Given the description of an element on the screen output the (x, y) to click on. 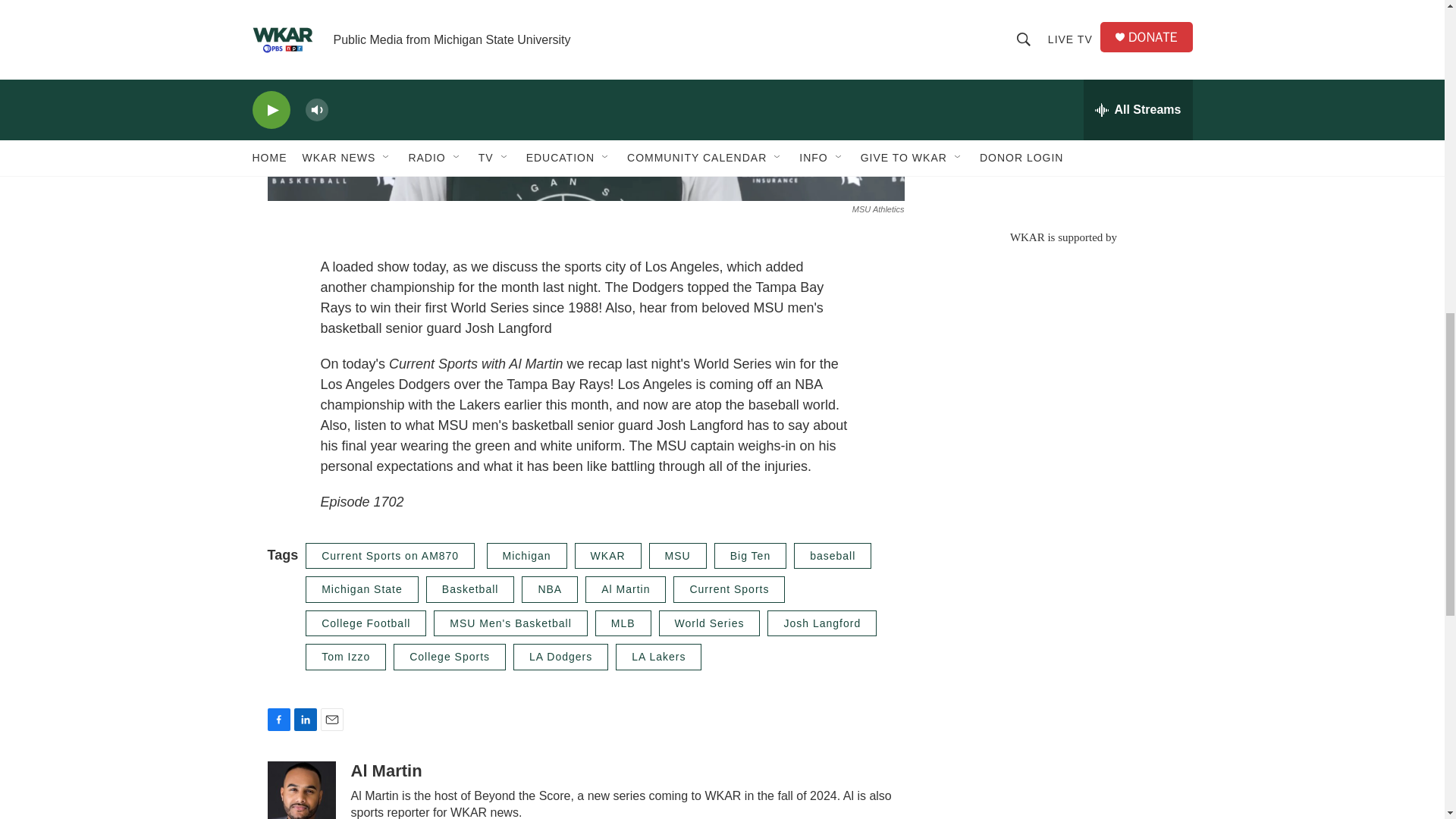
3rd party ad content (1062, 105)
3rd party ad content (1062, 353)
